Given the description of an element on the screen output the (x, y) to click on. 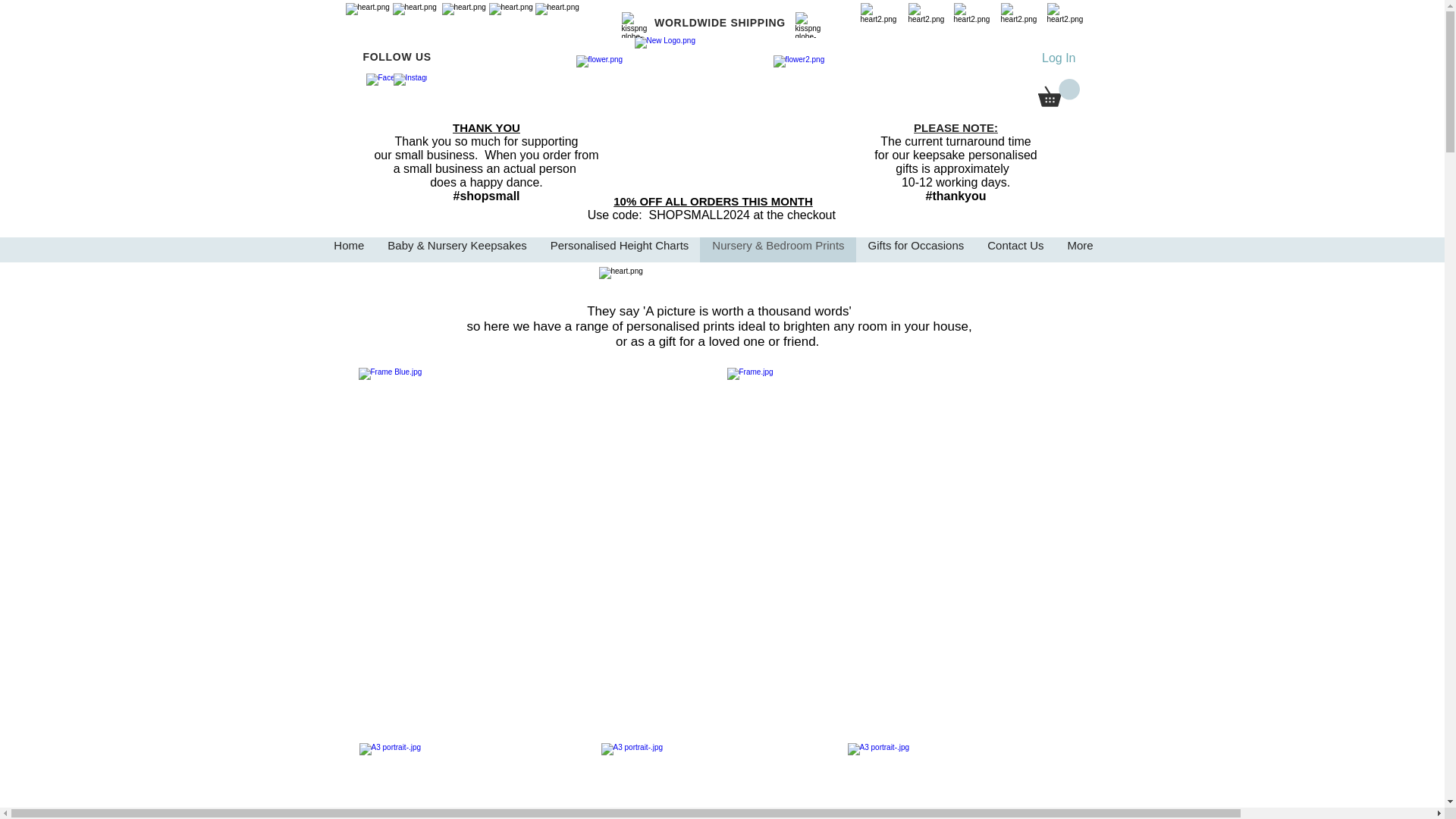
Personalised Height Charts (619, 249)
Gifts for Occasions (915, 249)
Log In (1058, 58)
Home (348, 249)
